Given the description of an element on the screen output the (x, y) to click on. 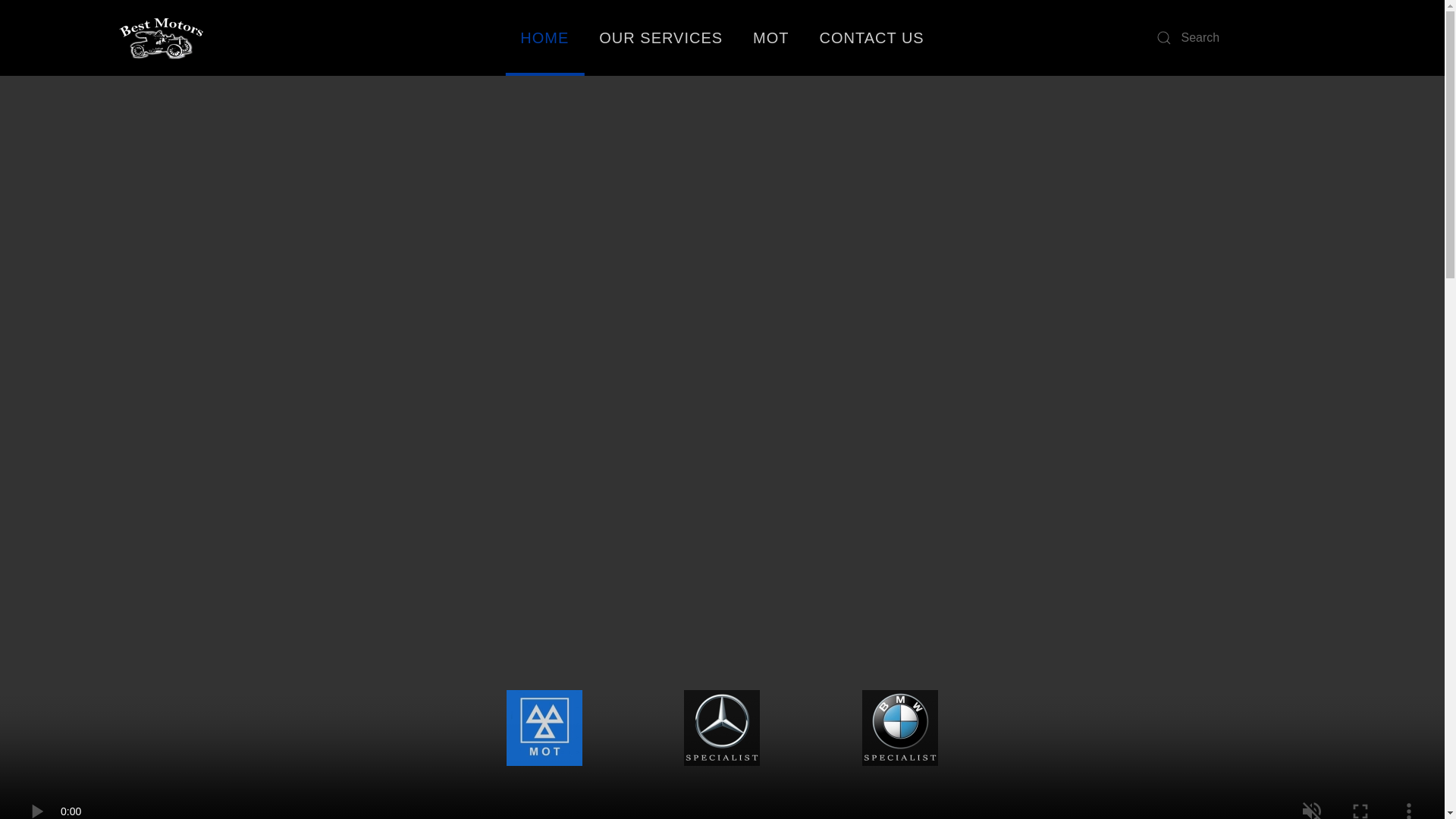
HOME (544, 38)
OUR SERVICES (660, 38)
CONTACT US (872, 38)
